Given the description of an element on the screen output the (x, y) to click on. 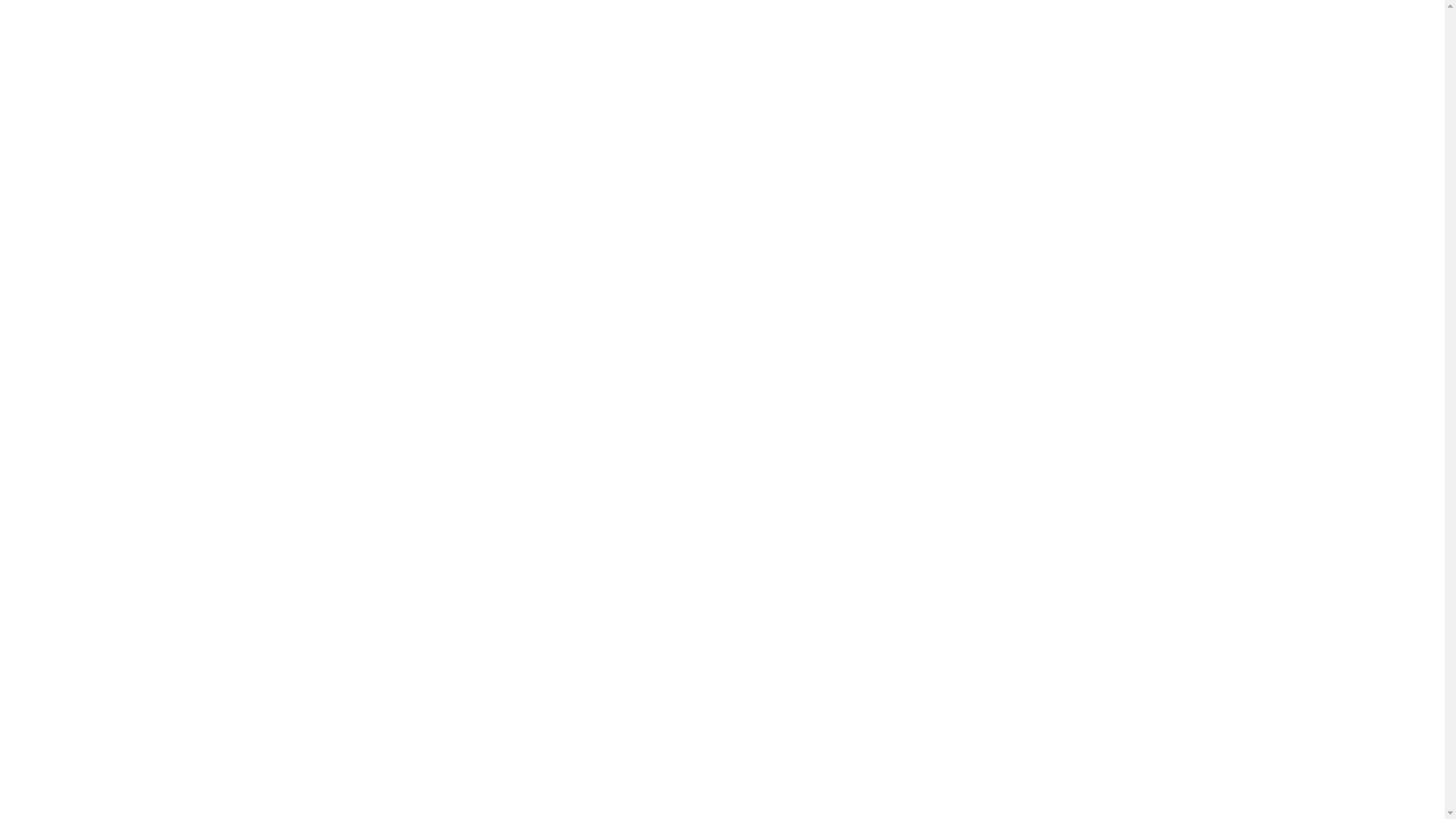
Stylechecks und Events Element type: text (481, 87)
Home Element type: text (481, 33)
Unsere Marken Element type: text (481, 69)
Farb- und Typberatung Element type: text (481, 106)
Impressum Element type: text (626, 600)
Skip to content Element type: text (282, 23)
office@frauenzimmer.cc Element type: text (944, 581)
Unser Team Element type: text (481, 51)
